Given the description of an element on the screen output the (x, y) to click on. 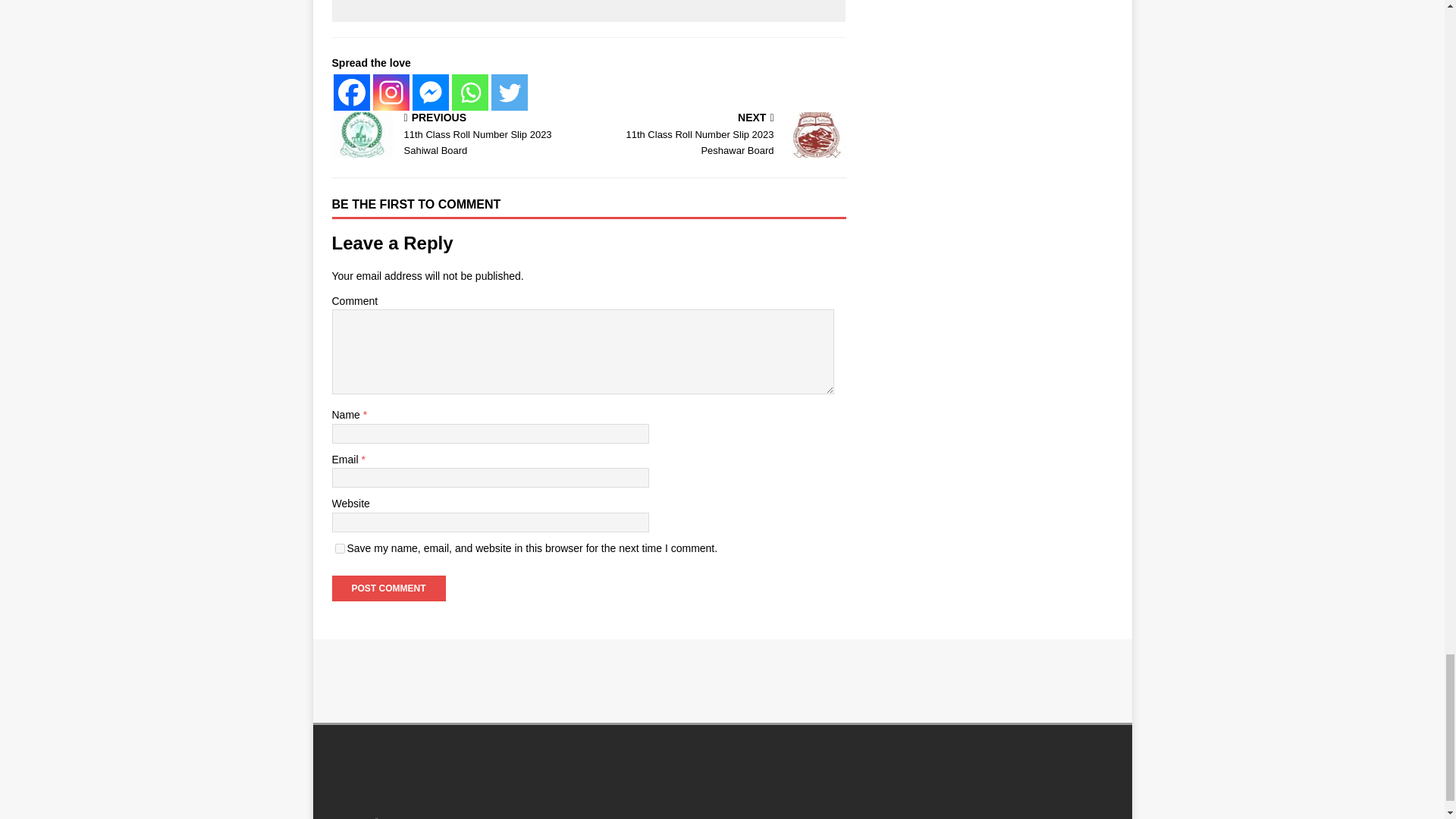
yes (339, 548)
Facebook (351, 92)
Instagram (390, 92)
Twitter (509, 92)
Post Comment (388, 588)
Whatsapp (469, 92)
